Given the description of an element on the screen output the (x, y) to click on. 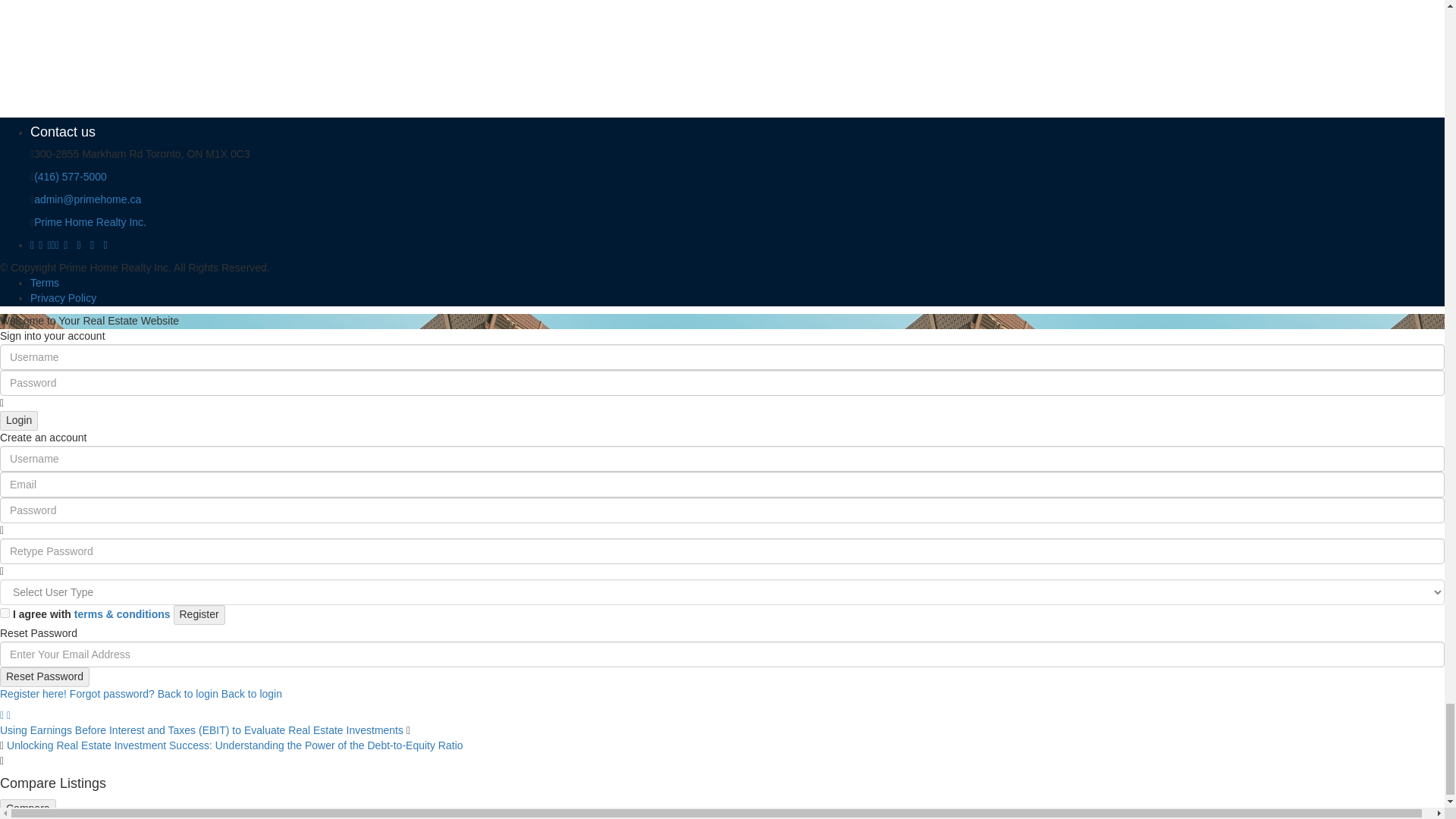
on (5, 613)
